Given the description of an element on the screen output the (x, y) to click on. 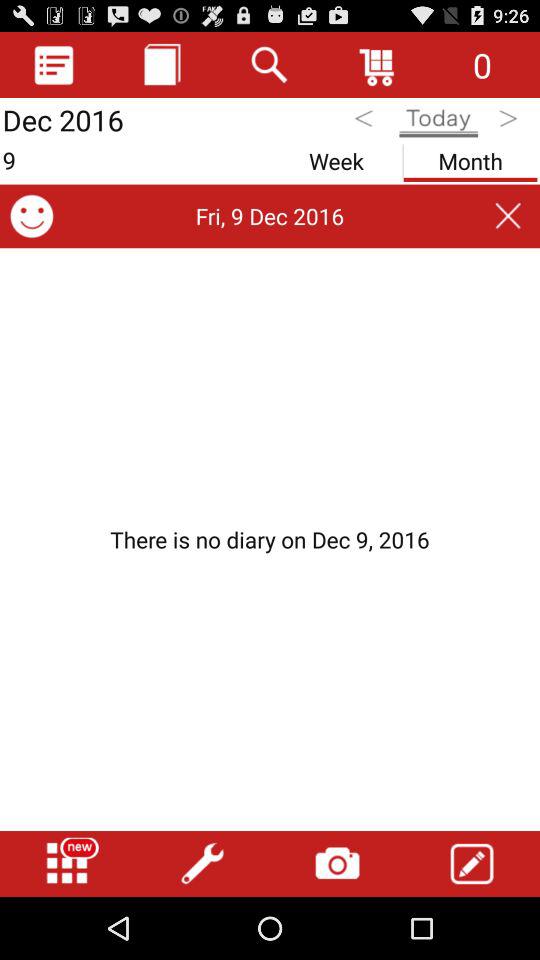
turn on icon at the bottom right corner (472, 863)
